Given the description of an element on the screen output the (x, y) to click on. 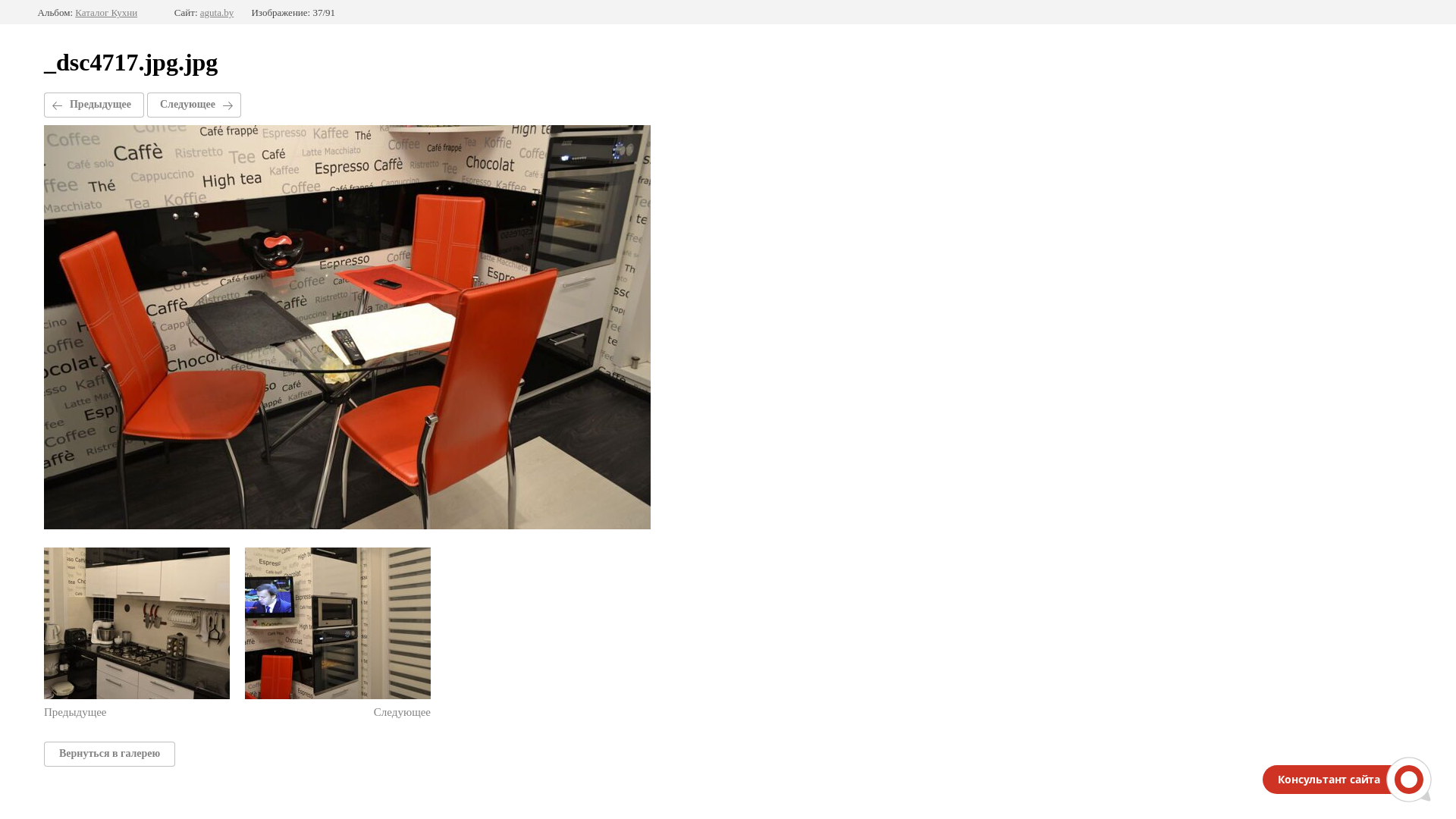
aguta.by Element type: text (216, 12)
